Given the description of an element on the screen output the (x, y) to click on. 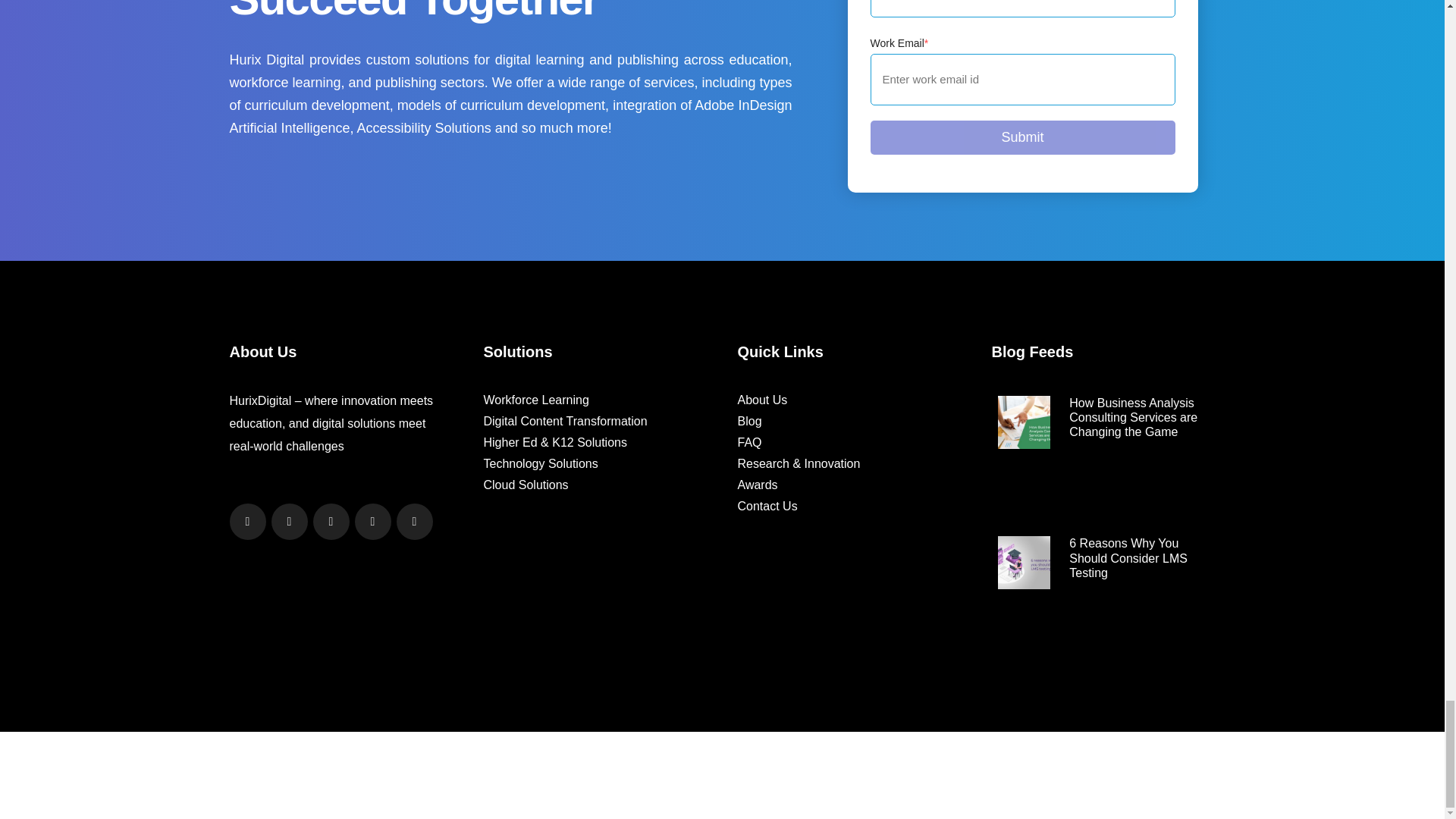
Submit (1022, 137)
